Given the description of an element on the screen output the (x, y) to click on. 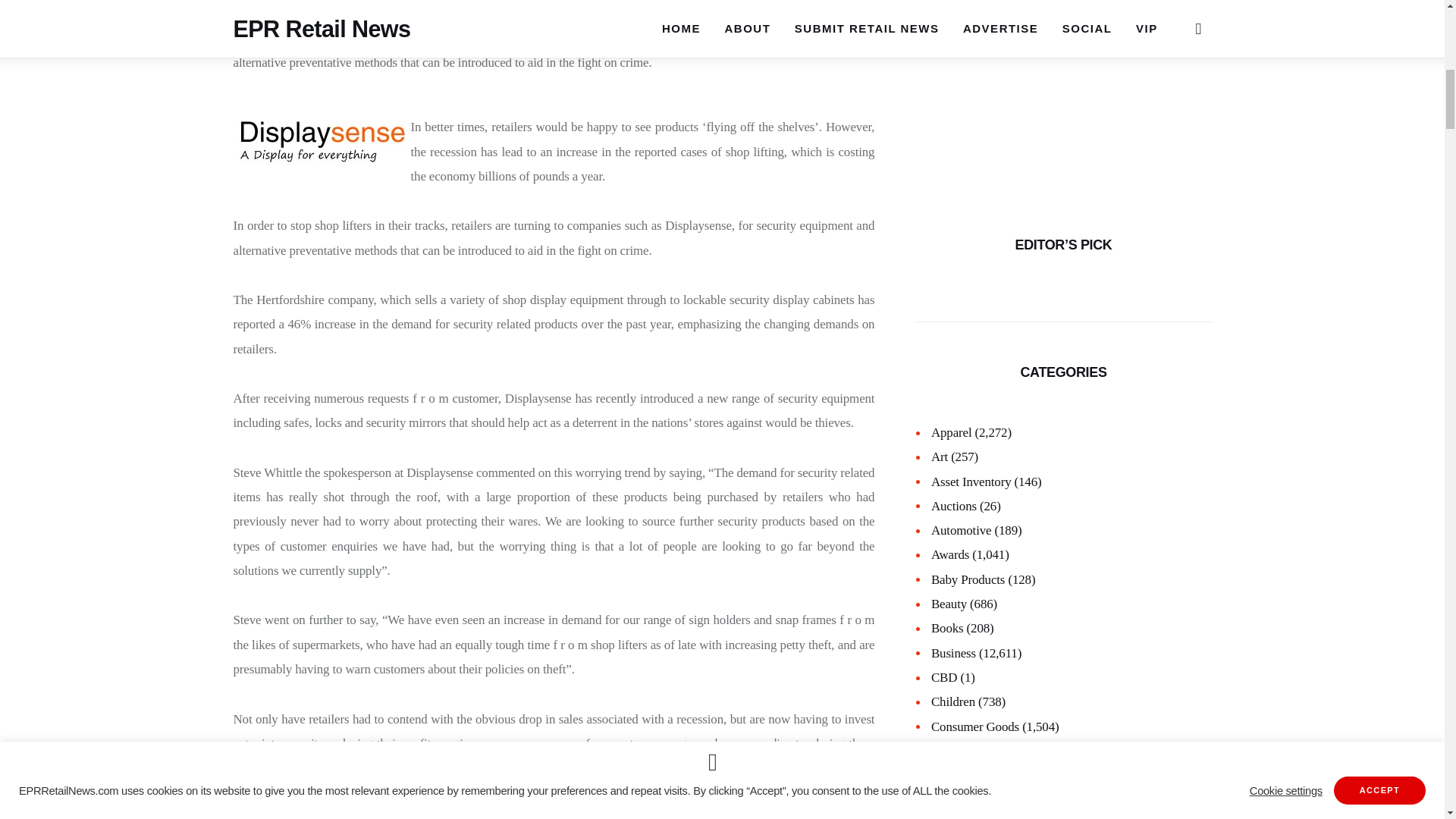
Advertisement (1063, 91)
